Given the description of an element on the screen output the (x, y) to click on. 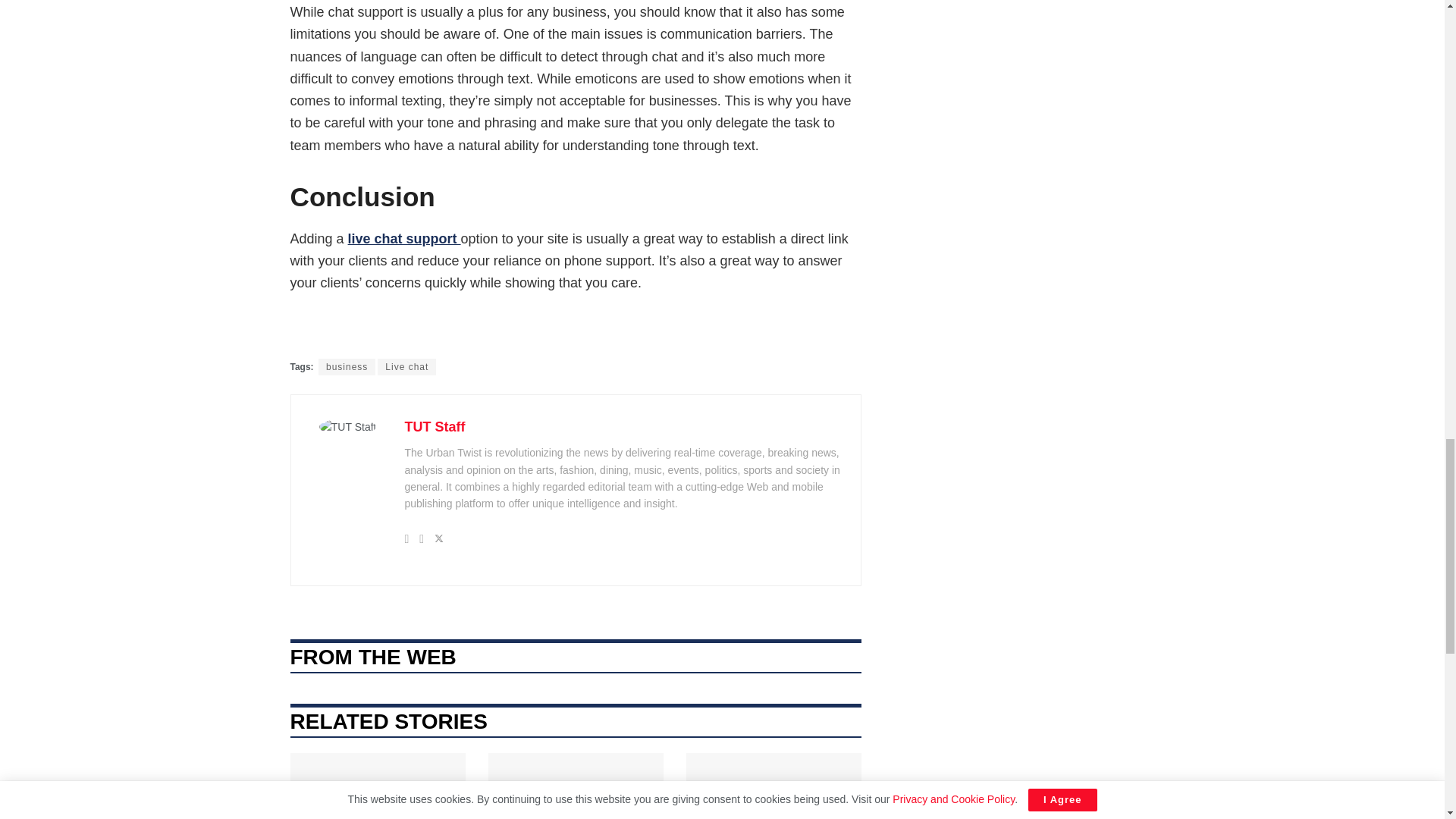
TUT Staff (434, 426)
live chat support (404, 238)
Live chat (406, 366)
business (346, 366)
